Given the description of an element on the screen output the (x, y) to click on. 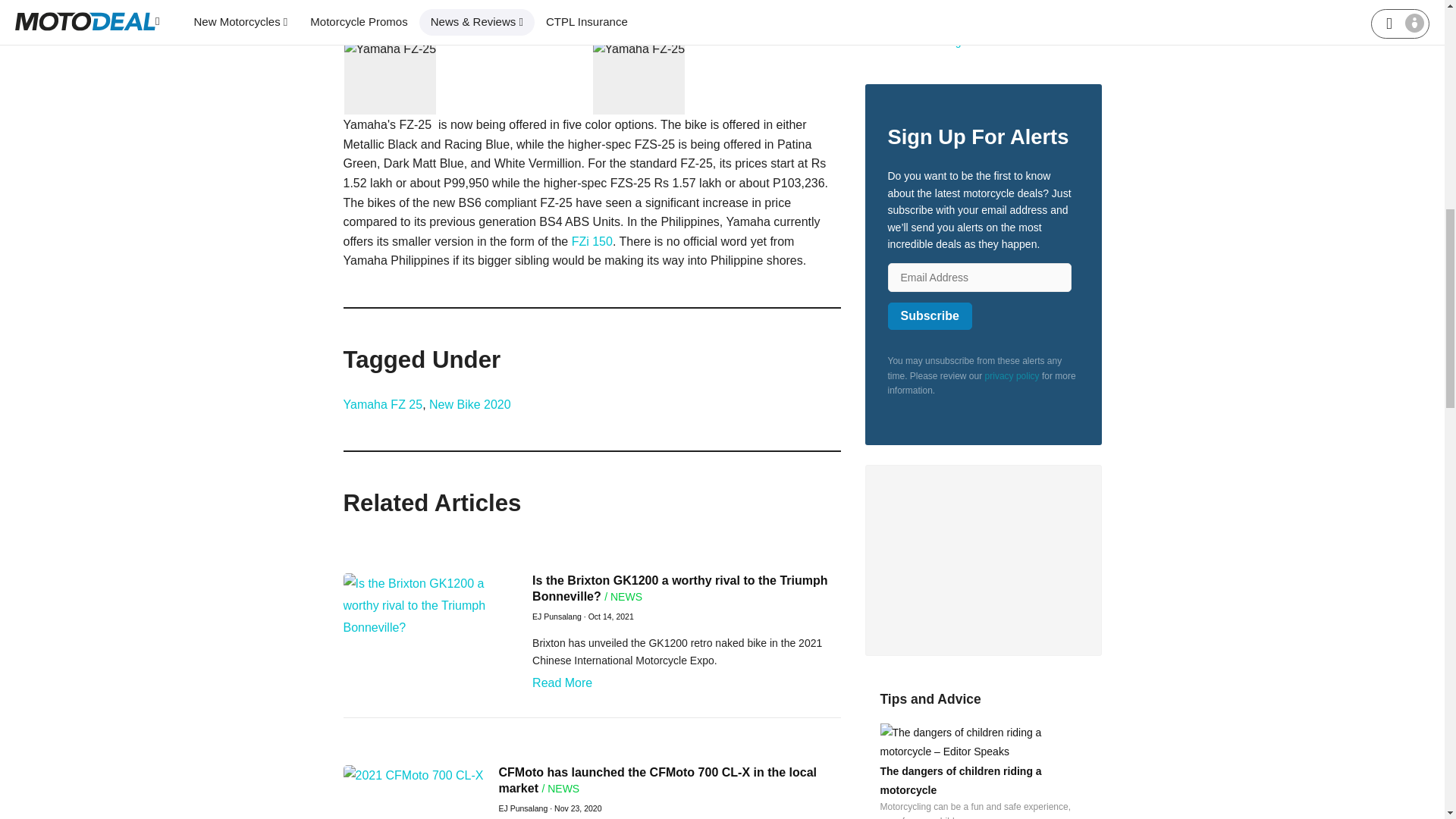
Yamaha FZ 25 (382, 404)
CFMoto has launched the CFMoto 700 CL-X in the local market (656, 779)
Read More (562, 682)
FZi 150 (592, 241)
Yamaha FZi 150 (592, 241)
New Bike 2020 (470, 404)
